Given the description of an element on the screen output the (x, y) to click on. 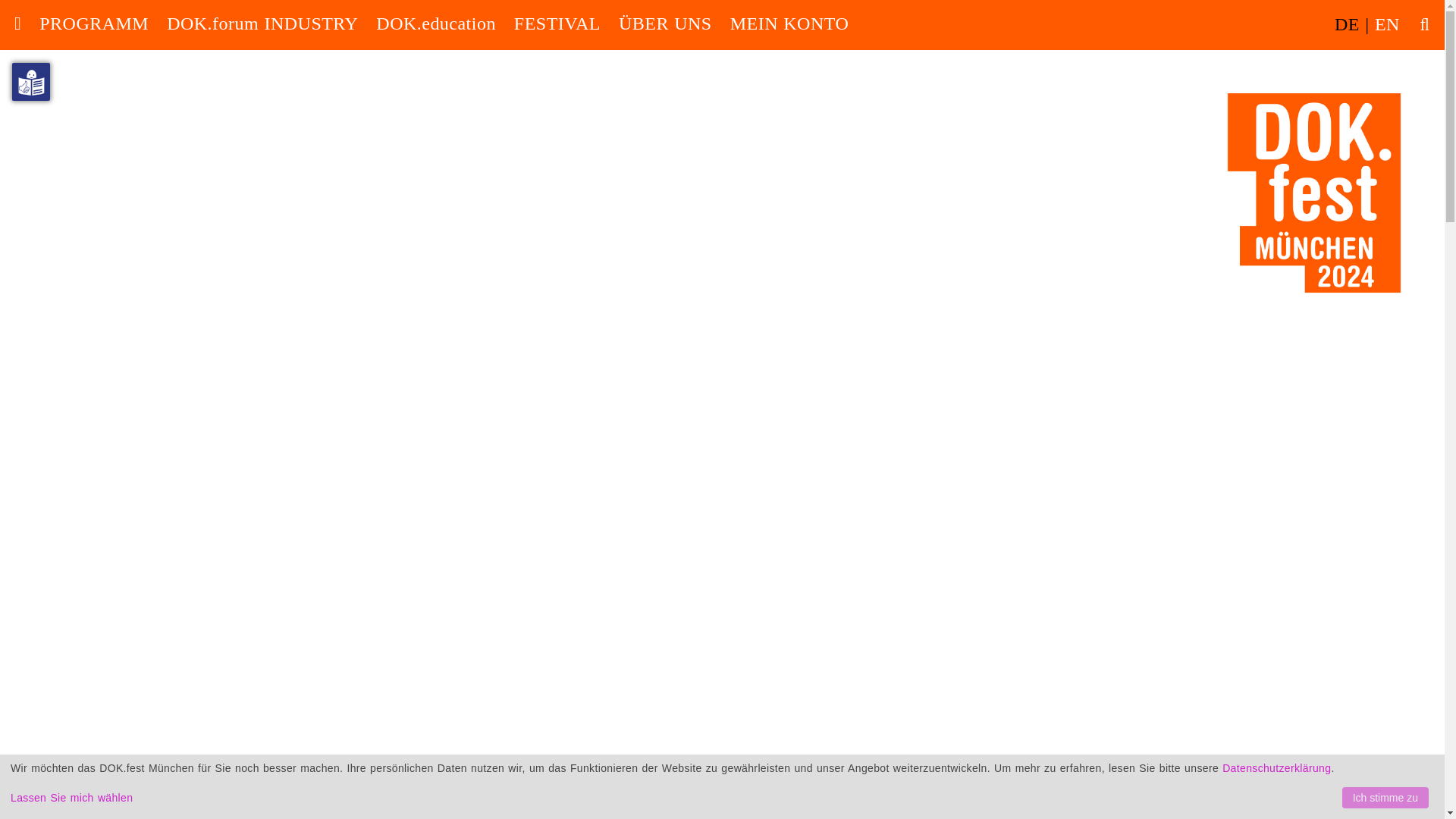
Leichte Sprache (30, 81)
